Given the description of an element on the screen output the (x, y) to click on. 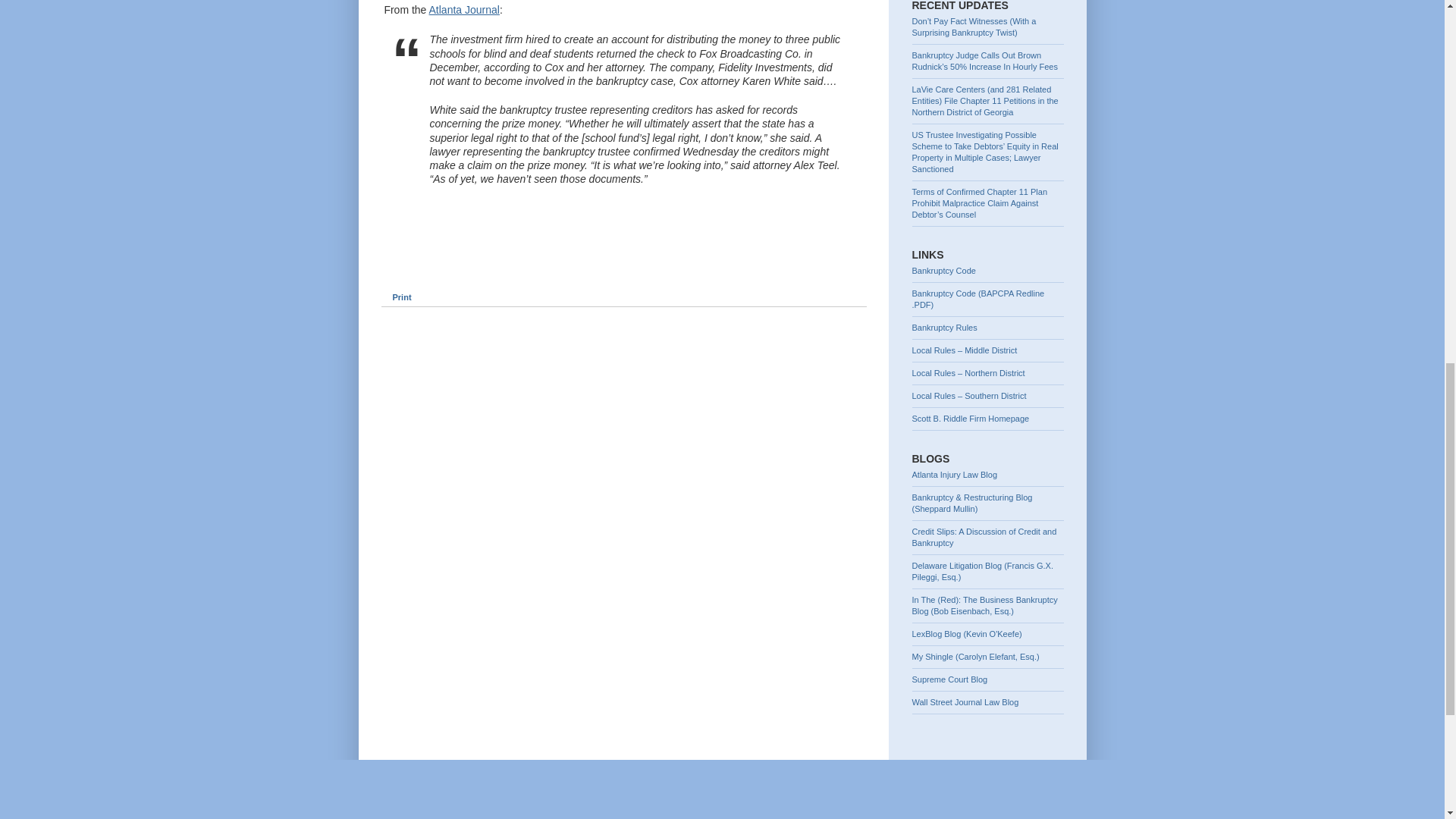
Email this post (509, 270)
Print (395, 297)
Like this post (457, 270)
Atlanta Journal (464, 9)
Tweet this post (404, 270)
Share this post on LinkedIn (562, 270)
